Given the description of an element on the screen output the (x, y) to click on. 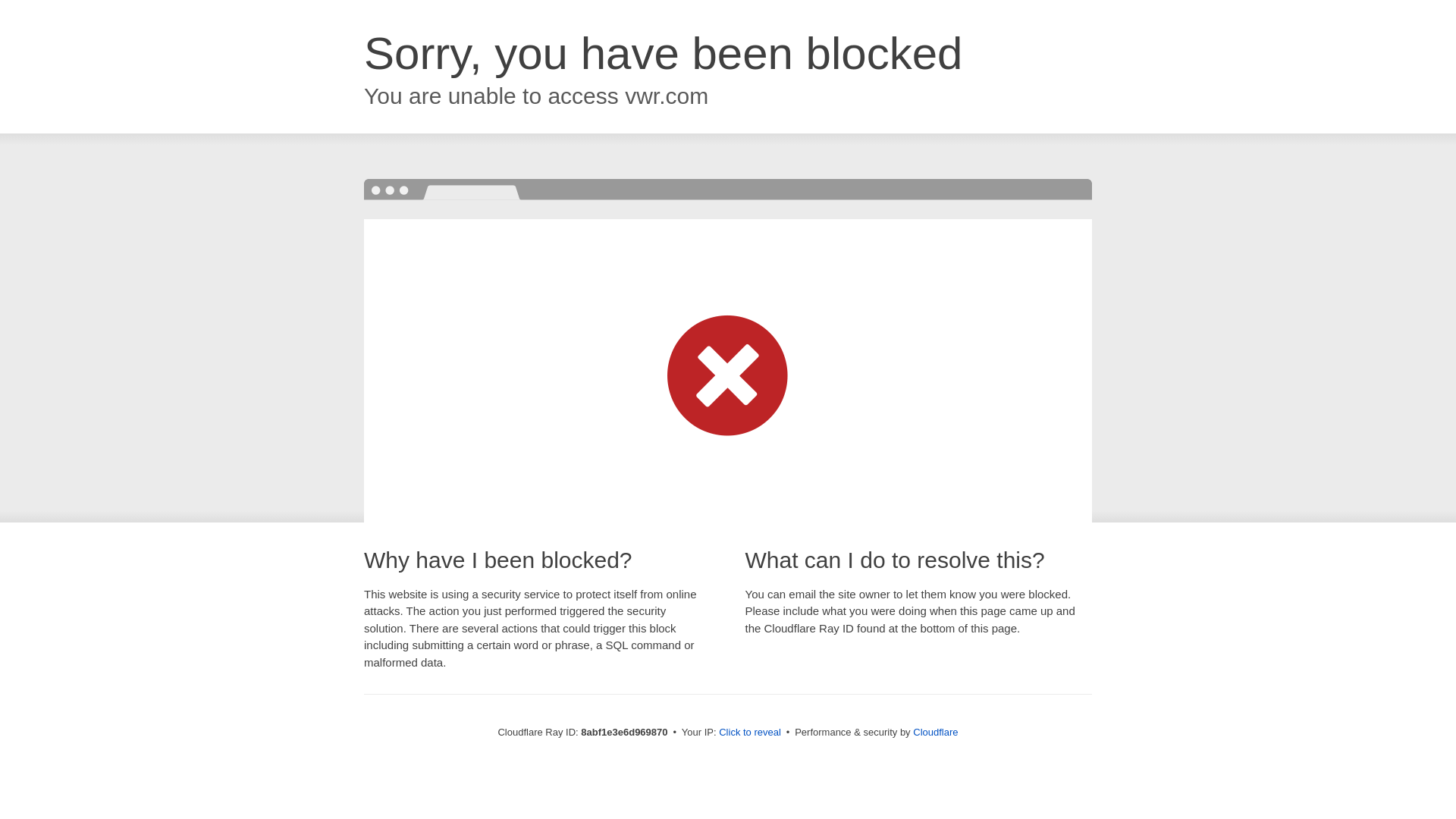
Cloudflare (935, 731)
Click to reveal (749, 732)
